Given the description of an element on the screen output the (x, y) to click on. 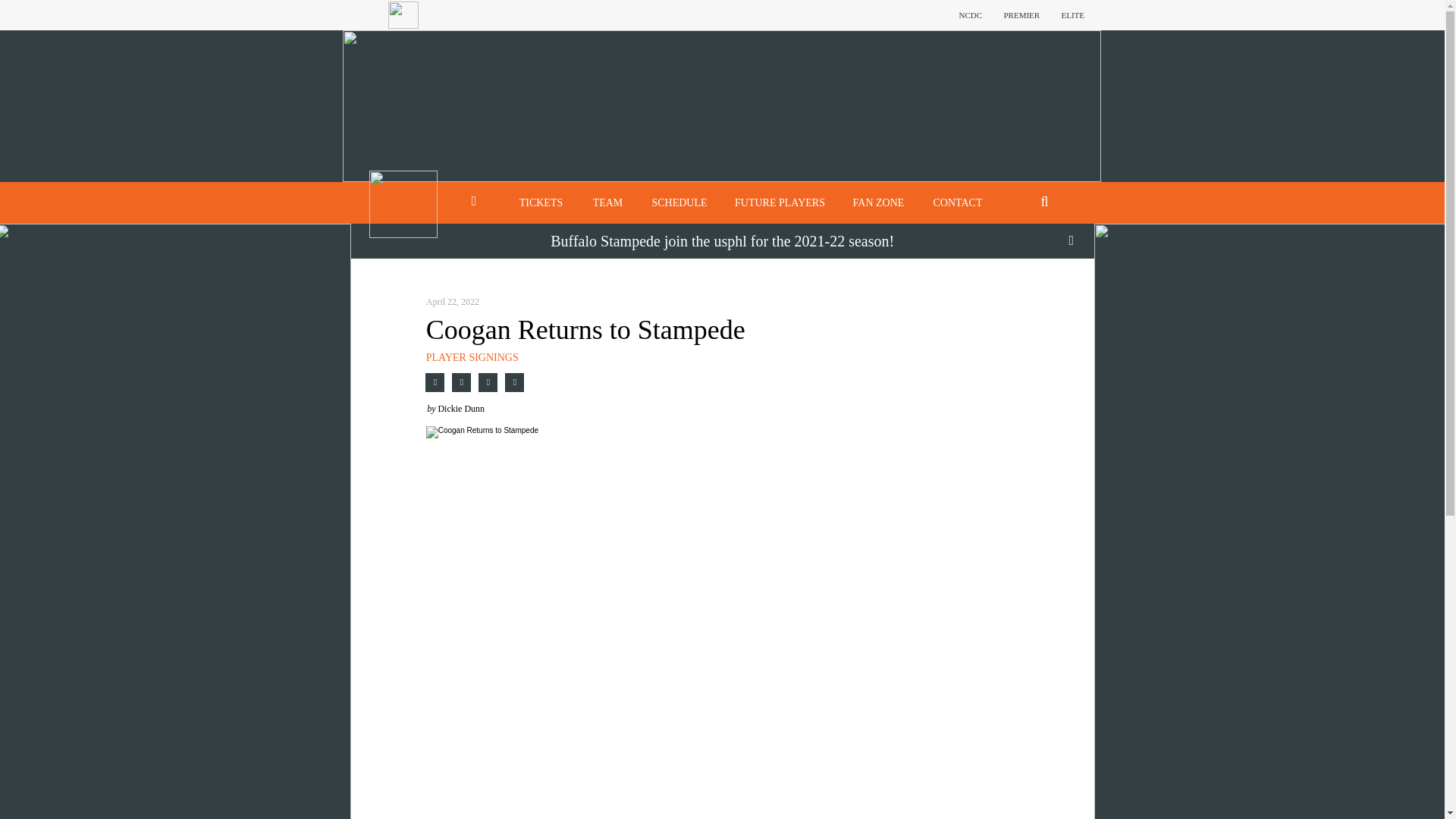
CONTACT (957, 202)
TEAM (607, 202)
TICKETS (540, 202)
